Given the description of an element on the screen output the (x, y) to click on. 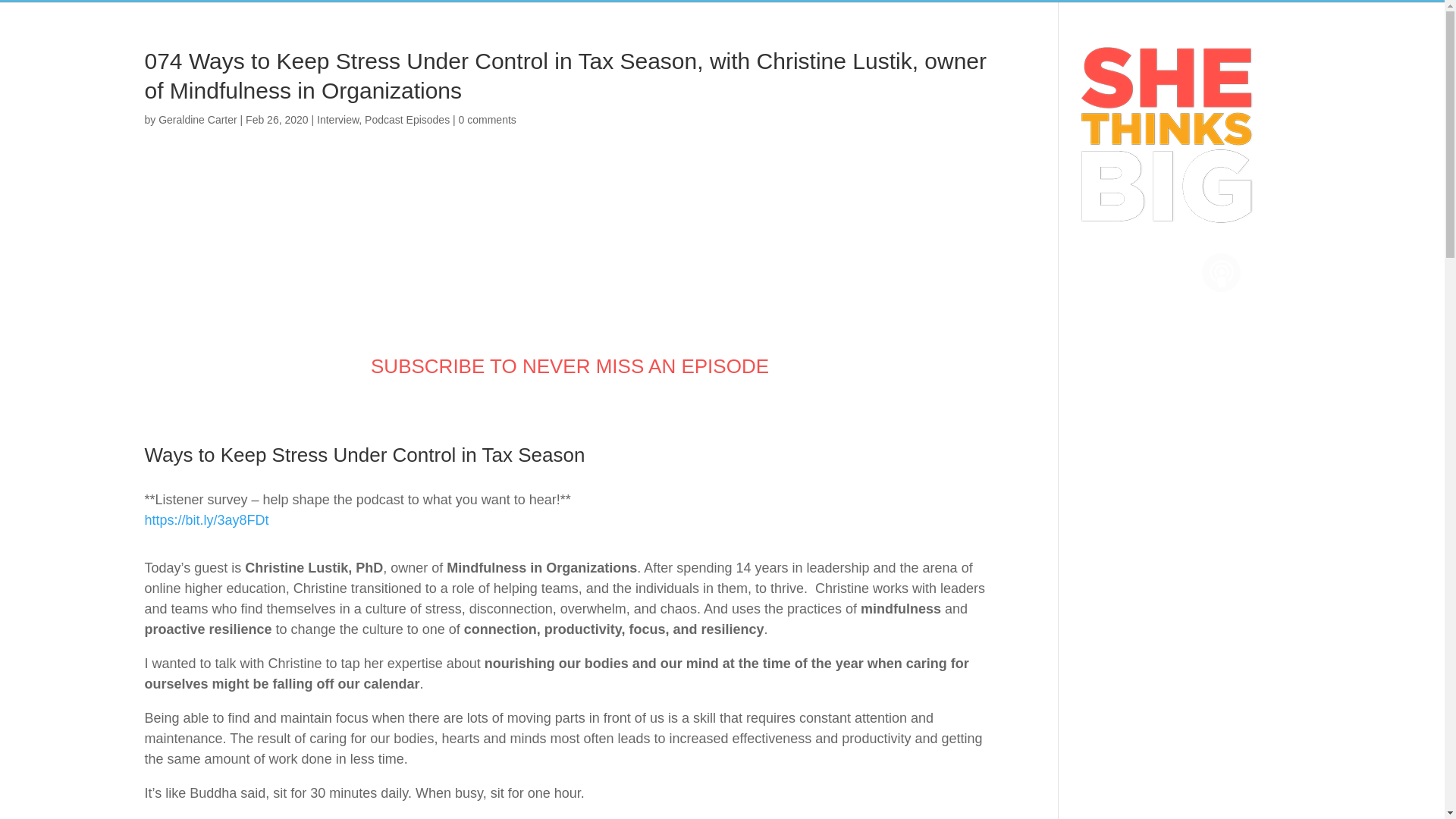
Posts by Geraldine Carter (197, 119)
Geraldine Carter (197, 119)
Interview (337, 119)
survey form (205, 519)
Podcast Episodes (407, 119)
0 comments (487, 119)
